Given the description of an element on the screen output the (x, y) to click on. 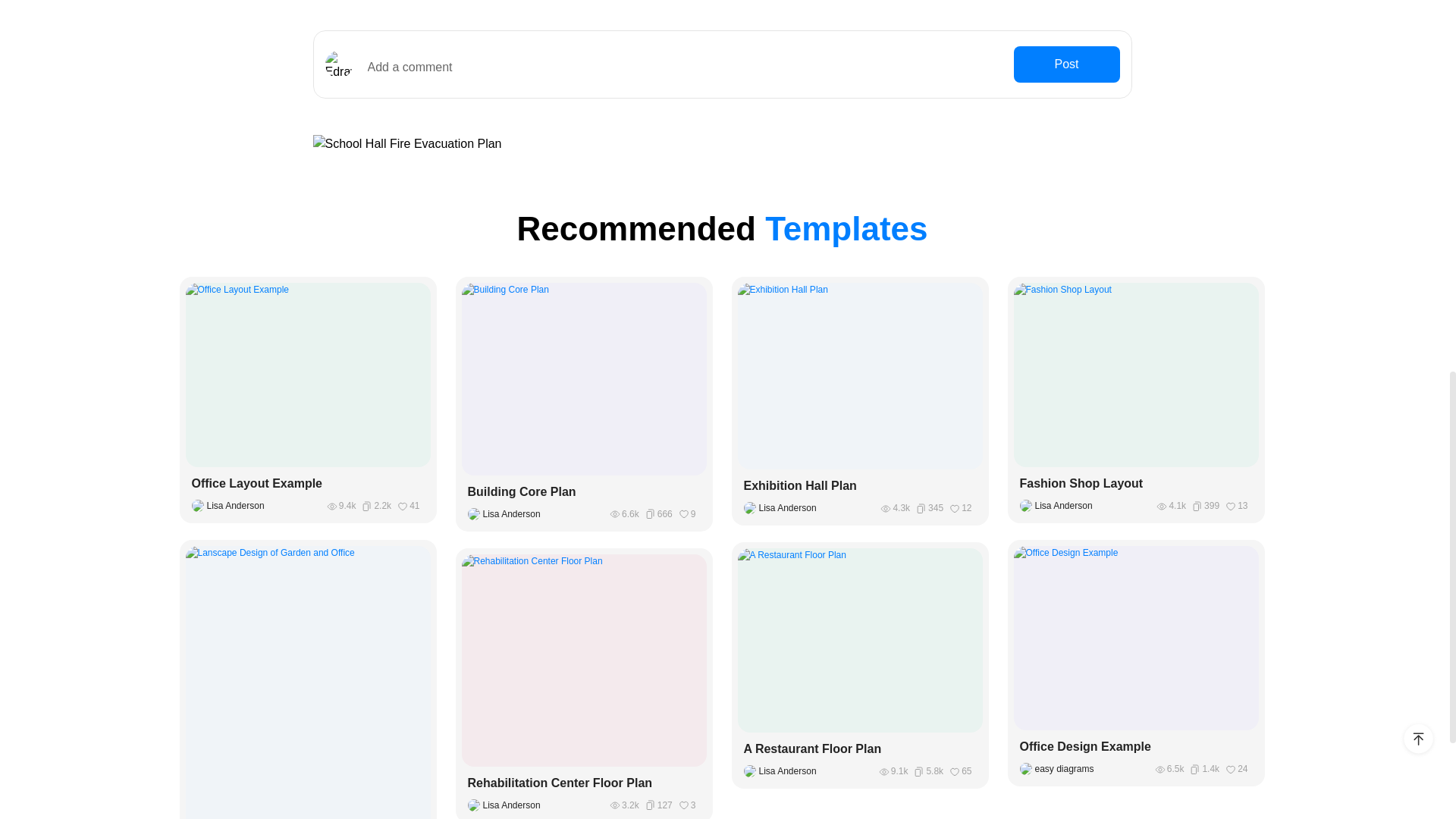
Lisa Anderson (507, 805)
Fashion Shop Layout (1136, 484)
A Restaurant Floor Plan (859, 749)
Rehabilitation Center Floor Plan (583, 782)
Fashion Shop Layout (1136, 484)
Lisa Anderson (507, 513)
Lisa Anderson (1059, 505)
Building Core Plan (583, 492)
Office Layout Example (307, 484)
Office Layout Example (307, 484)
